Given the description of an element on the screen output the (x, y) to click on. 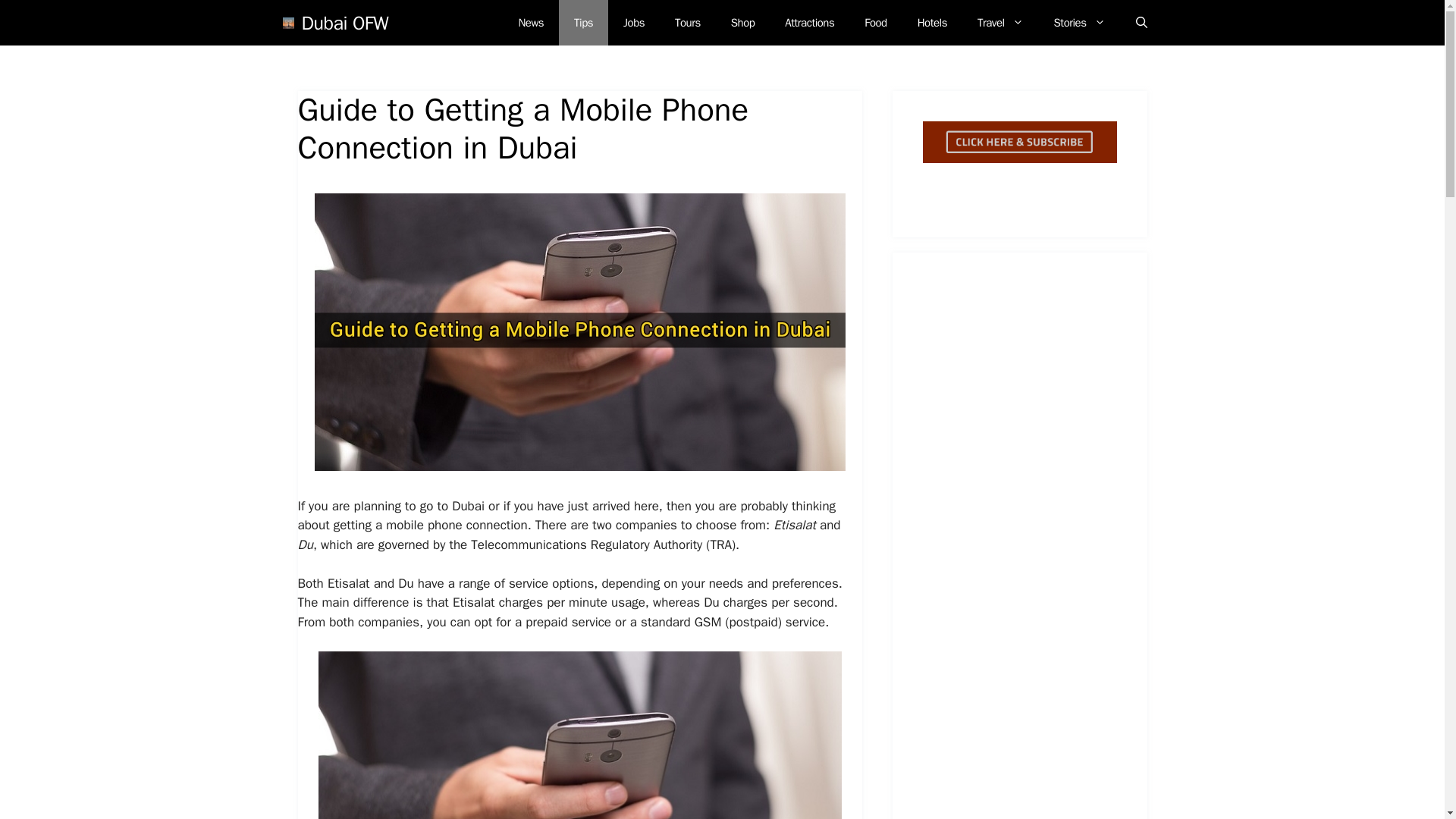
Dubai OFW (344, 22)
Book a Tour to Attractions in Dubai (687, 22)
Restaurants in Dubai (874, 22)
Hotel Staycation Experiences (932, 22)
Travelling Beyond Dubai (1000, 22)
